Given the description of an element on the screen output the (x, y) to click on. 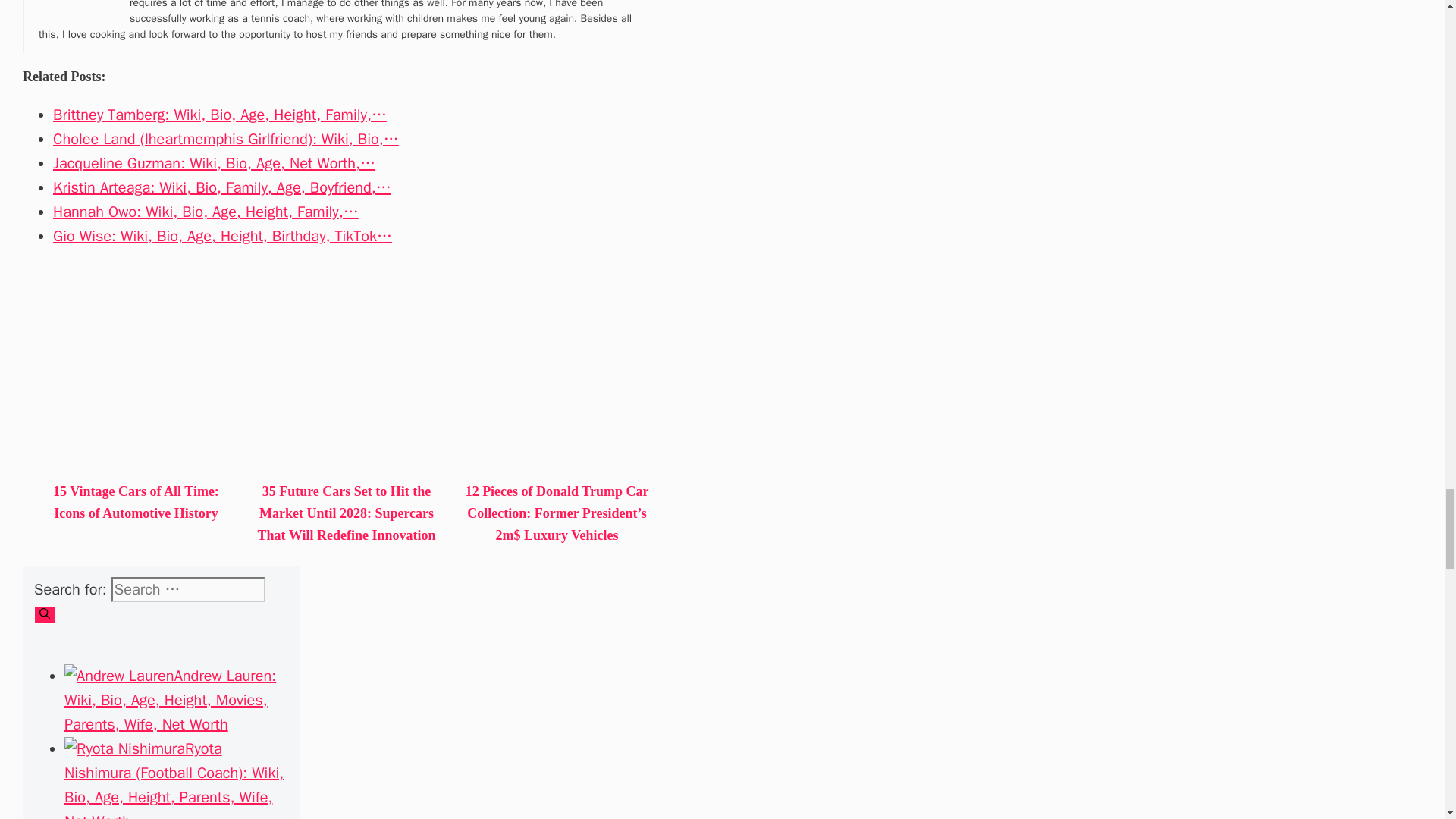
Search for: (188, 589)
15 Vintage Cars of All Time: Icons of Automotive History (135, 502)
